Given the description of an element on the screen output the (x, y) to click on. 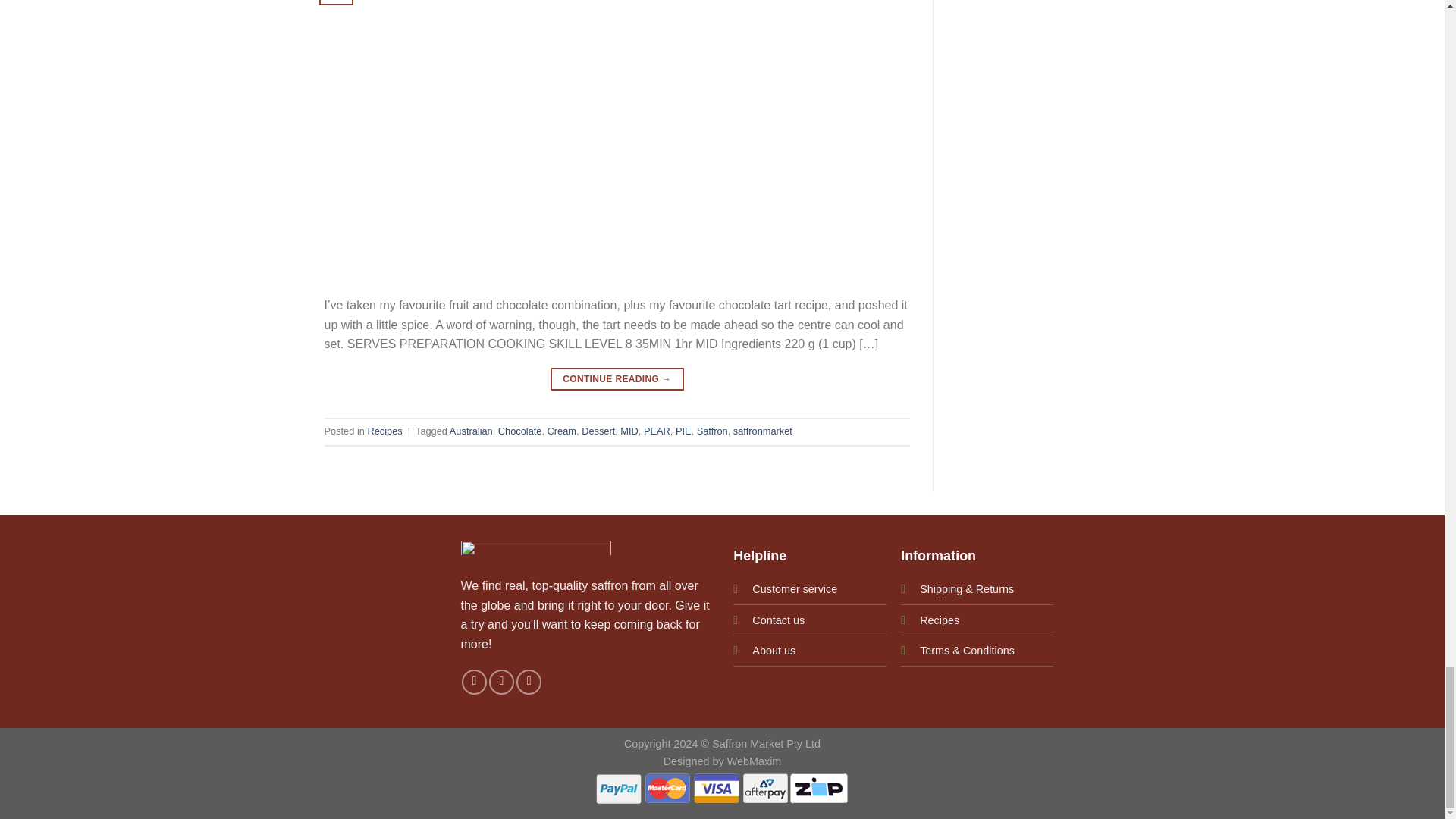
Follow on Facebook (473, 681)
Follow on Instagram (501, 681)
Follow on YouTube (528, 681)
